Given the description of an element on the screen output the (x, y) to click on. 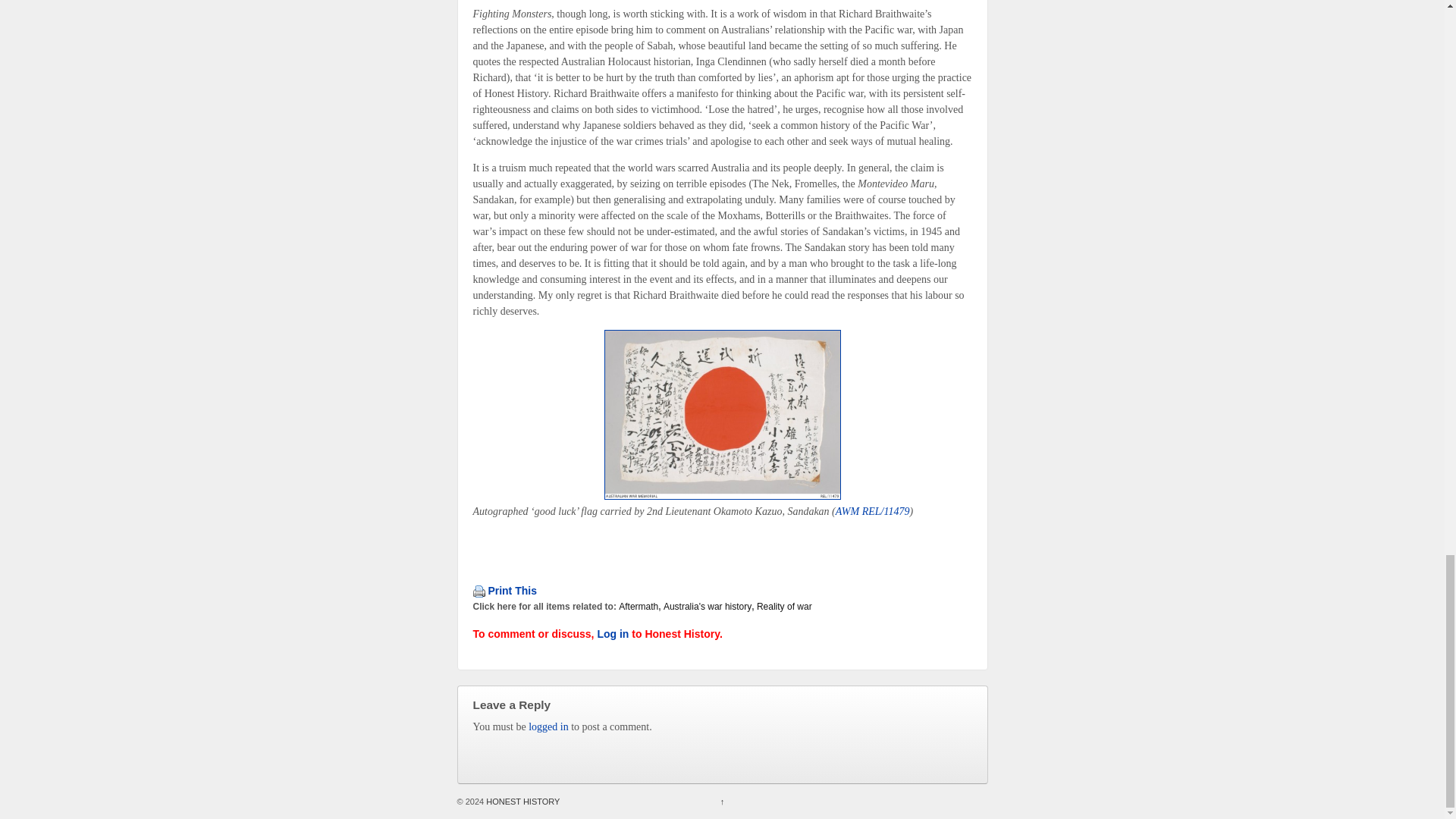
HONEST  HISTORY (521, 800)
